Given the description of an element on the screen output the (x, y) to click on. 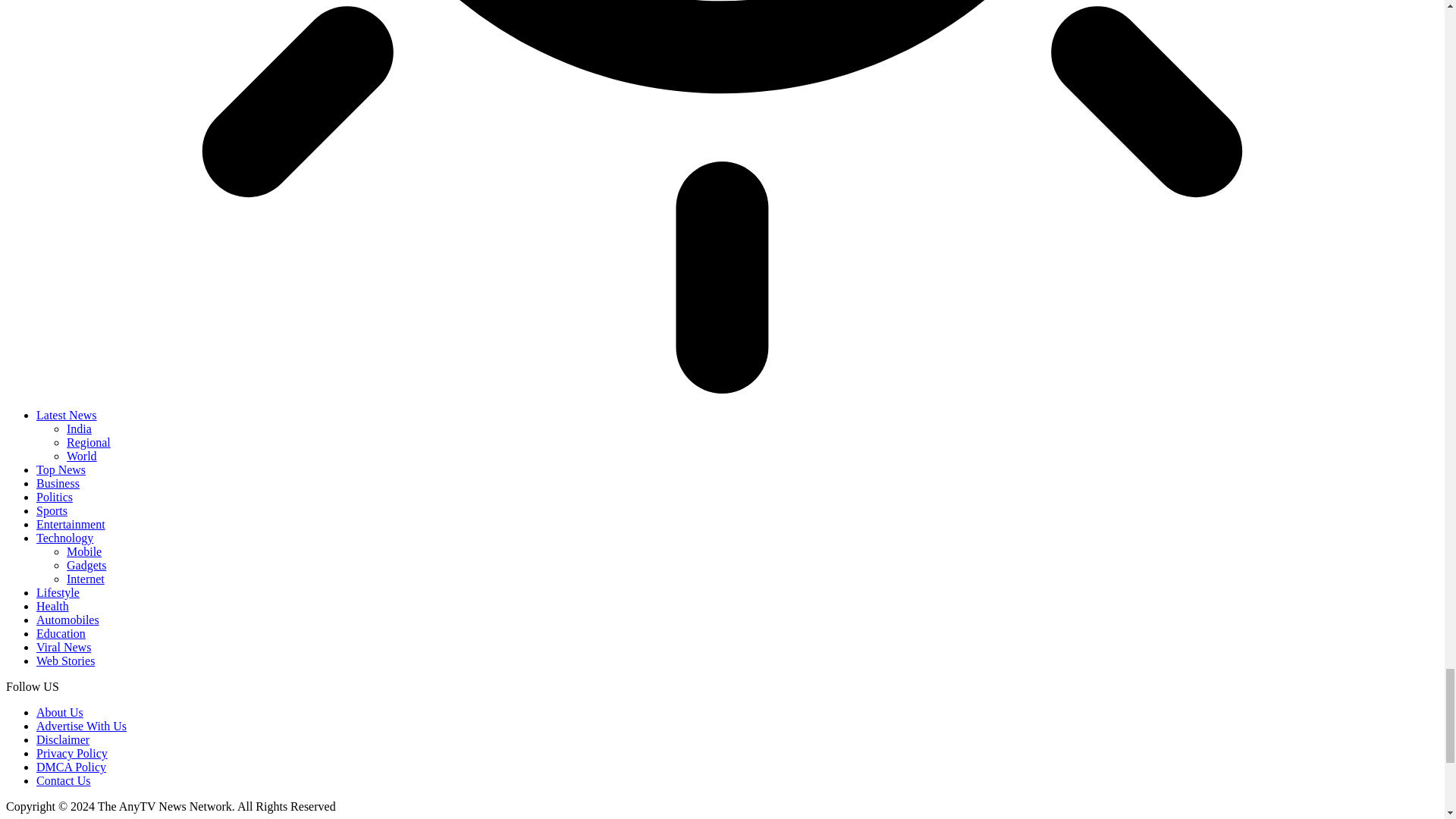
India (78, 428)
Top News (60, 469)
Latest News (66, 414)
Regional (88, 441)
World (81, 455)
